Given the description of an element on the screen output the (x, y) to click on. 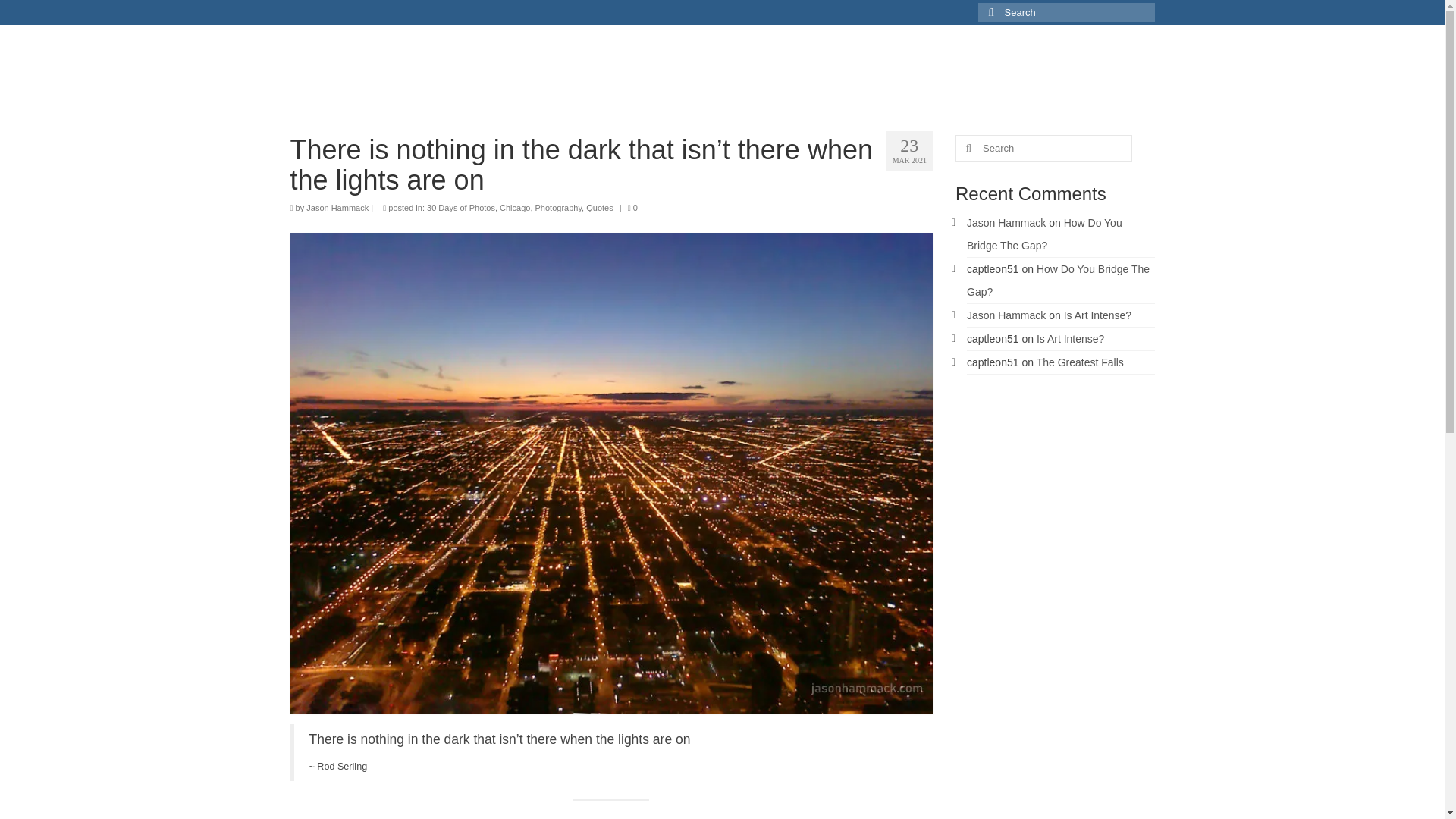
Chicago (514, 207)
Photography (558, 207)
Jason Hammack (1005, 315)
How Do You Bridge The Gap? (1058, 280)
The Greatest Falls (1080, 362)
Jason Hammack (336, 207)
Is Art Intense? (1098, 315)
Jason Hammack (1005, 223)
Quotes (599, 207)
Is Art Intense? (1070, 338)
